Given the description of an element on the screen output the (x, y) to click on. 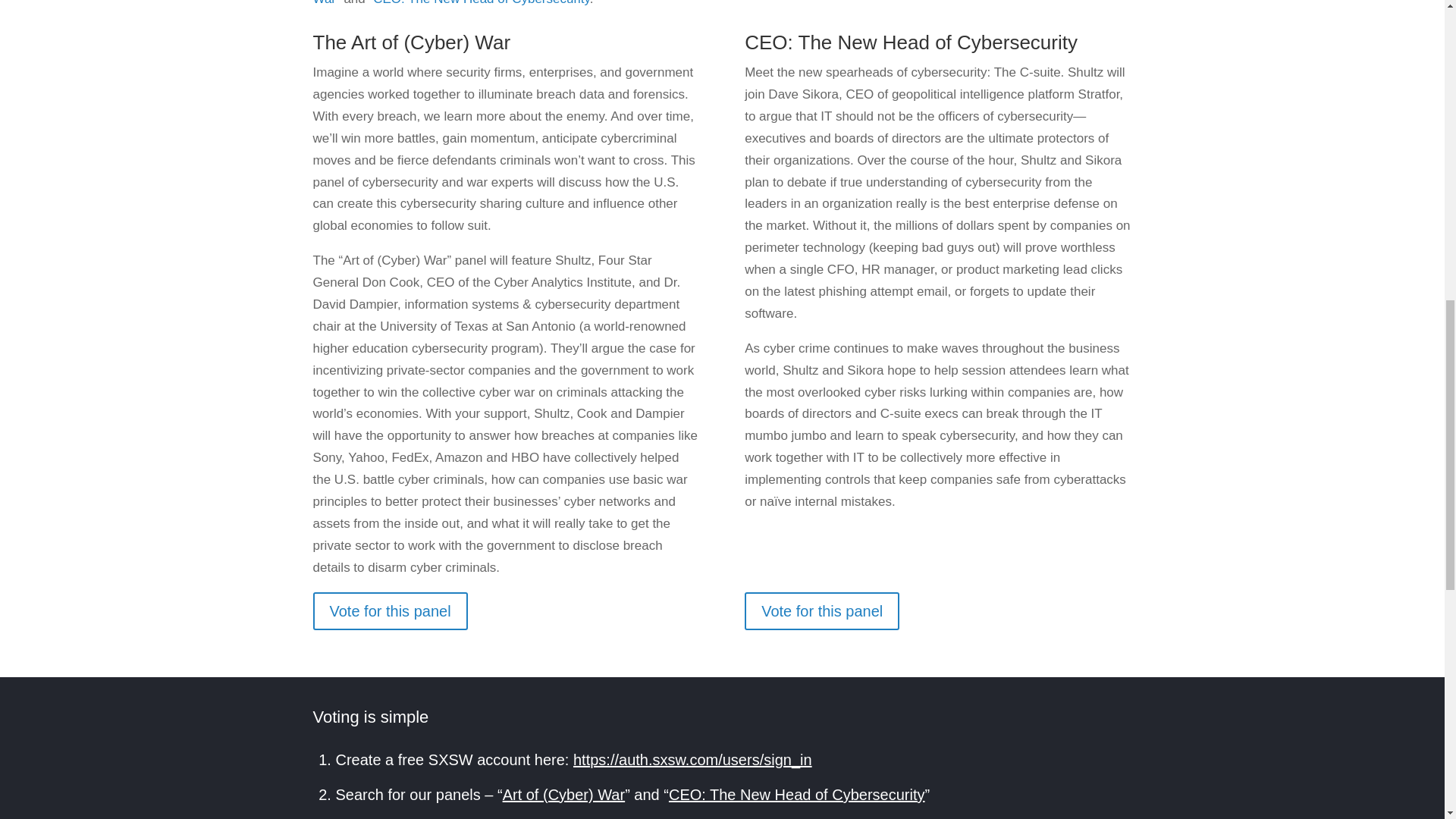
Vote for this panel (821, 610)
CEO: The New Head of Cybersecurity (796, 794)
Vote for this panel (390, 610)
CEO: The New Head of Cybersecurity (480, 2)
